Given the description of an element on the screen output the (x, y) to click on. 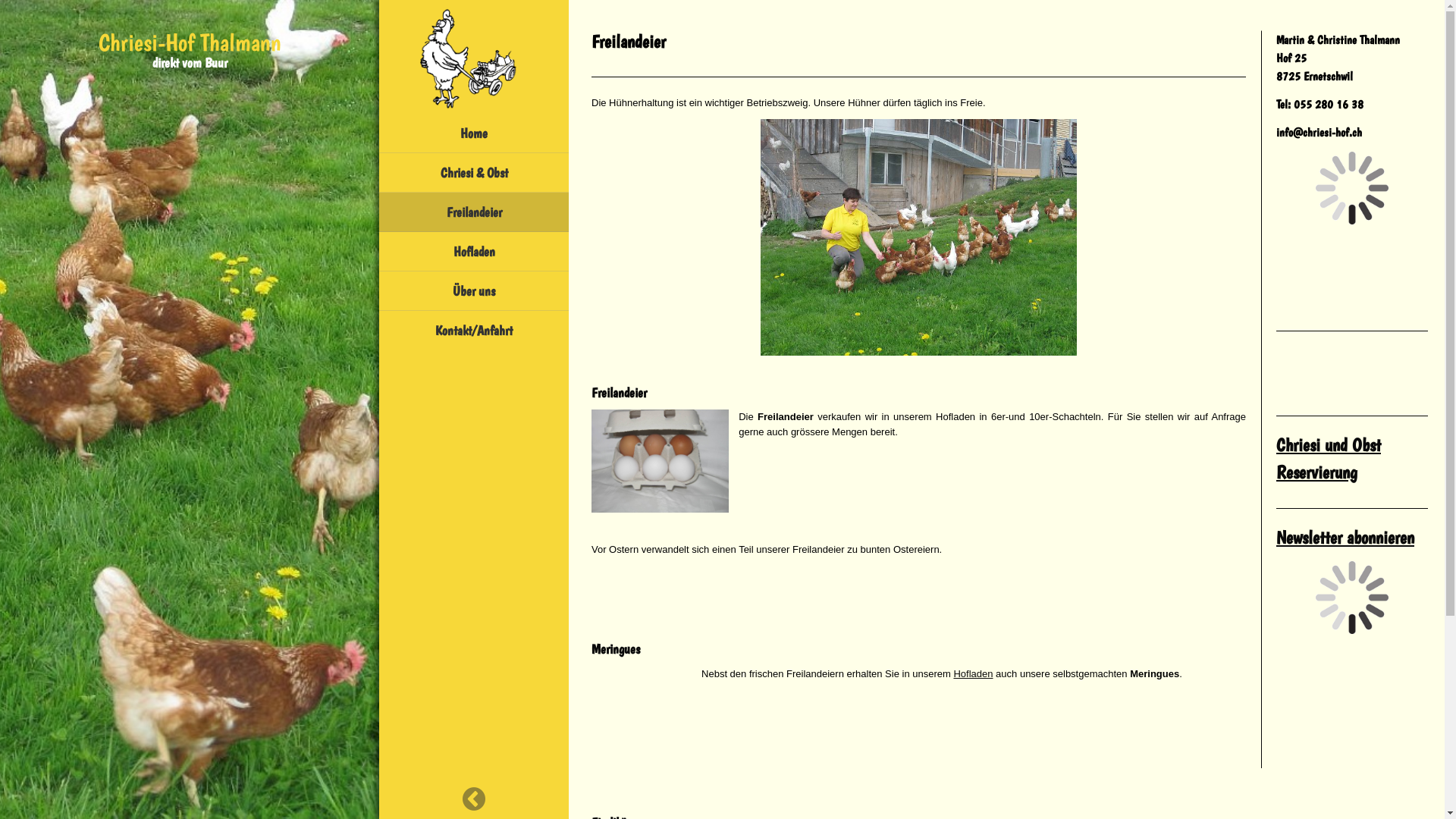
Hofladen Element type: text (972, 673)
Chriesi und Obst Reservierung Element type: text (1328, 458)
Kontakt/Anfahrt Element type: text (473, 329)
Freilandeier Element type: hover (659, 460)
Hofladen Element type: text (473, 251)
Chriesi & Obst Element type: text (473, 172)
  Element type: text (473, 56)
Home Element type: text (473, 133)
Freilandeier Element type: text (473, 212)
Newsletter abonnieren Element type: text (1345, 537)
